Given the description of an element on the screen output the (x, y) to click on. 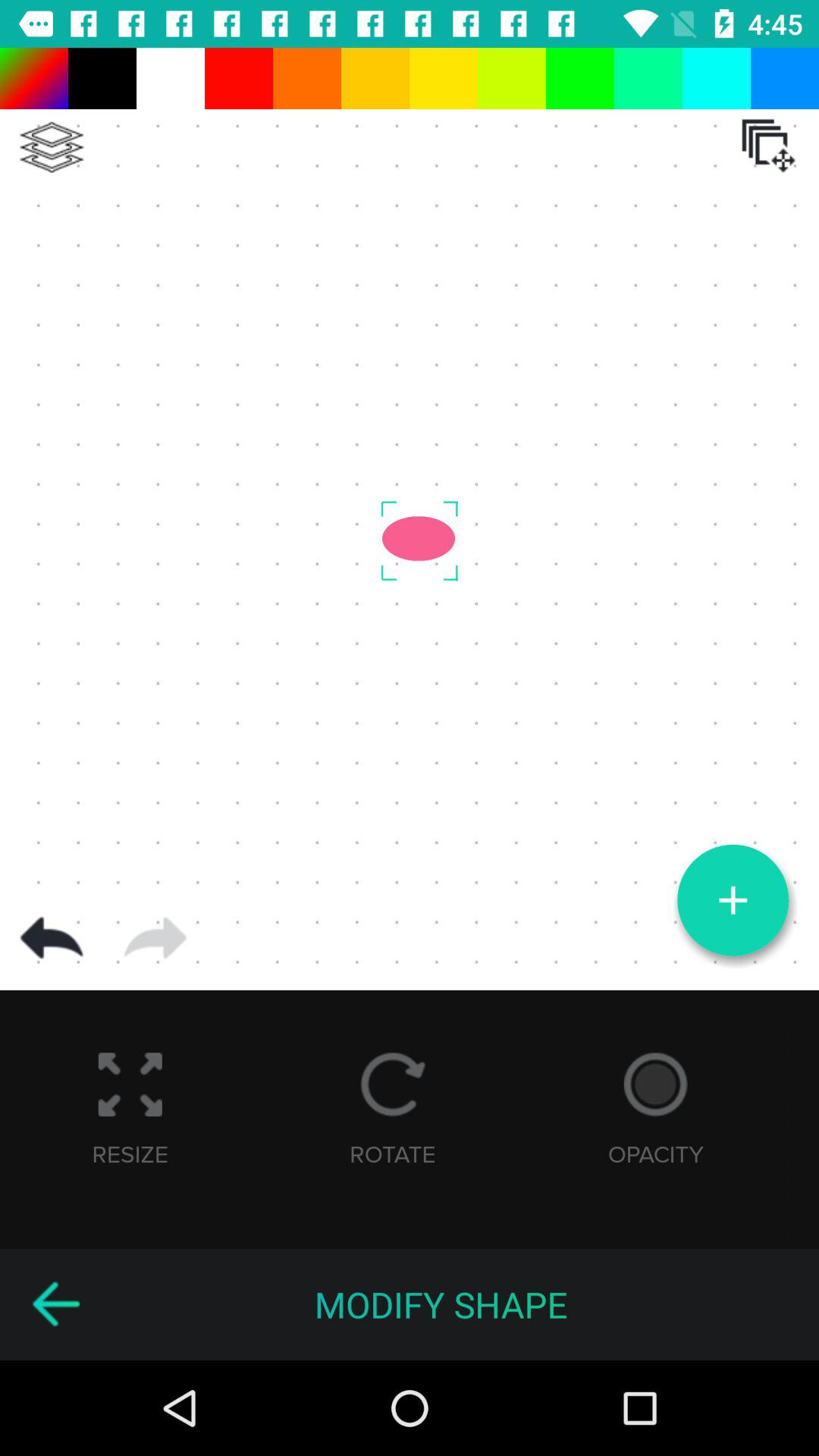
next page (155, 938)
